Given the description of an element on the screen output the (x, y) to click on. 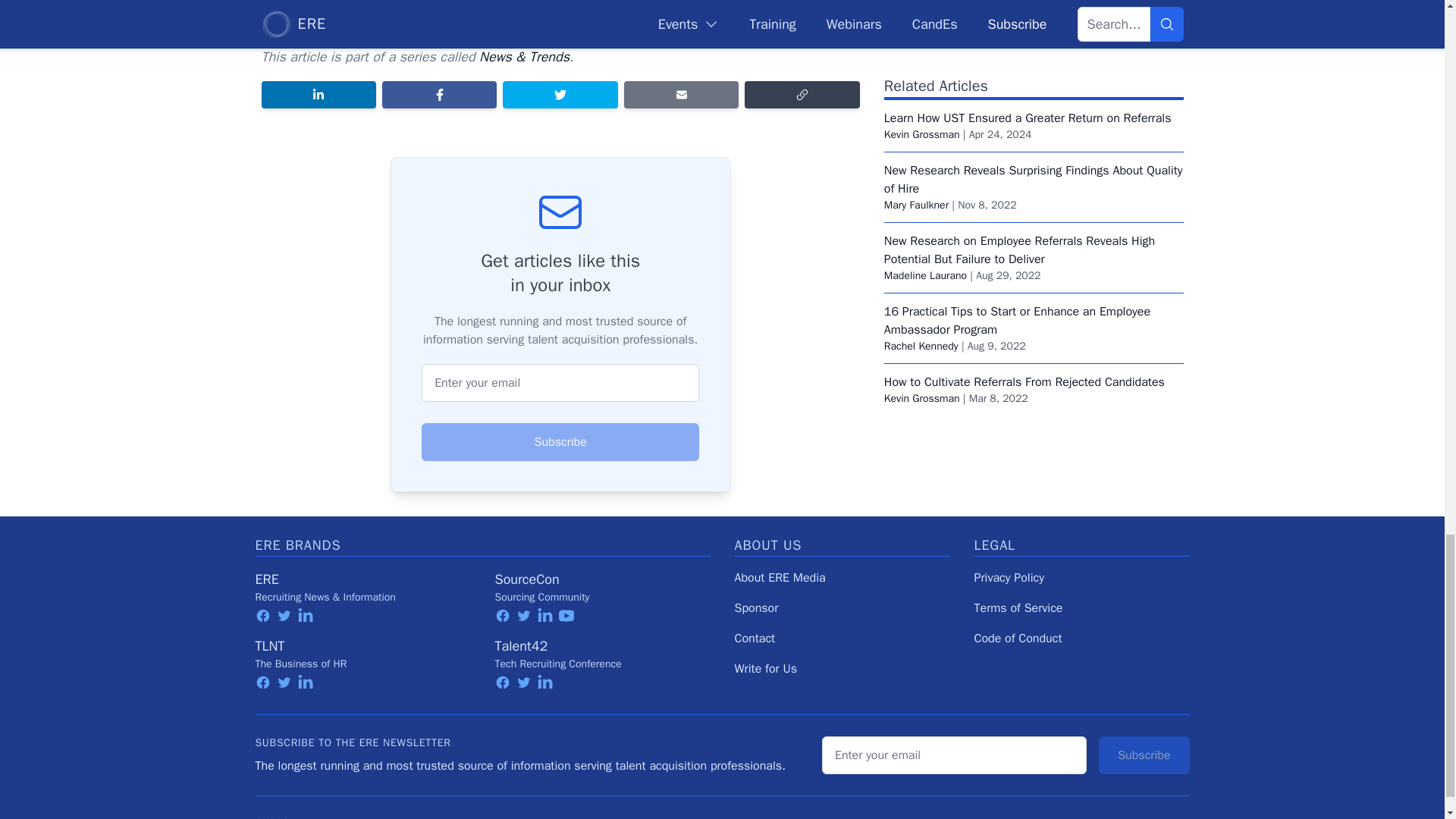
Rachel Kennedy (920, 253)
Mary Faulkner (916, 112)
Subscribe (560, 442)
Madeline Laurano (924, 182)
Kevin Grossman (921, 42)
Learn How UST Ensured a Greater Return on Referrals (1027, 25)
